Given the description of an element on the screen output the (x, y) to click on. 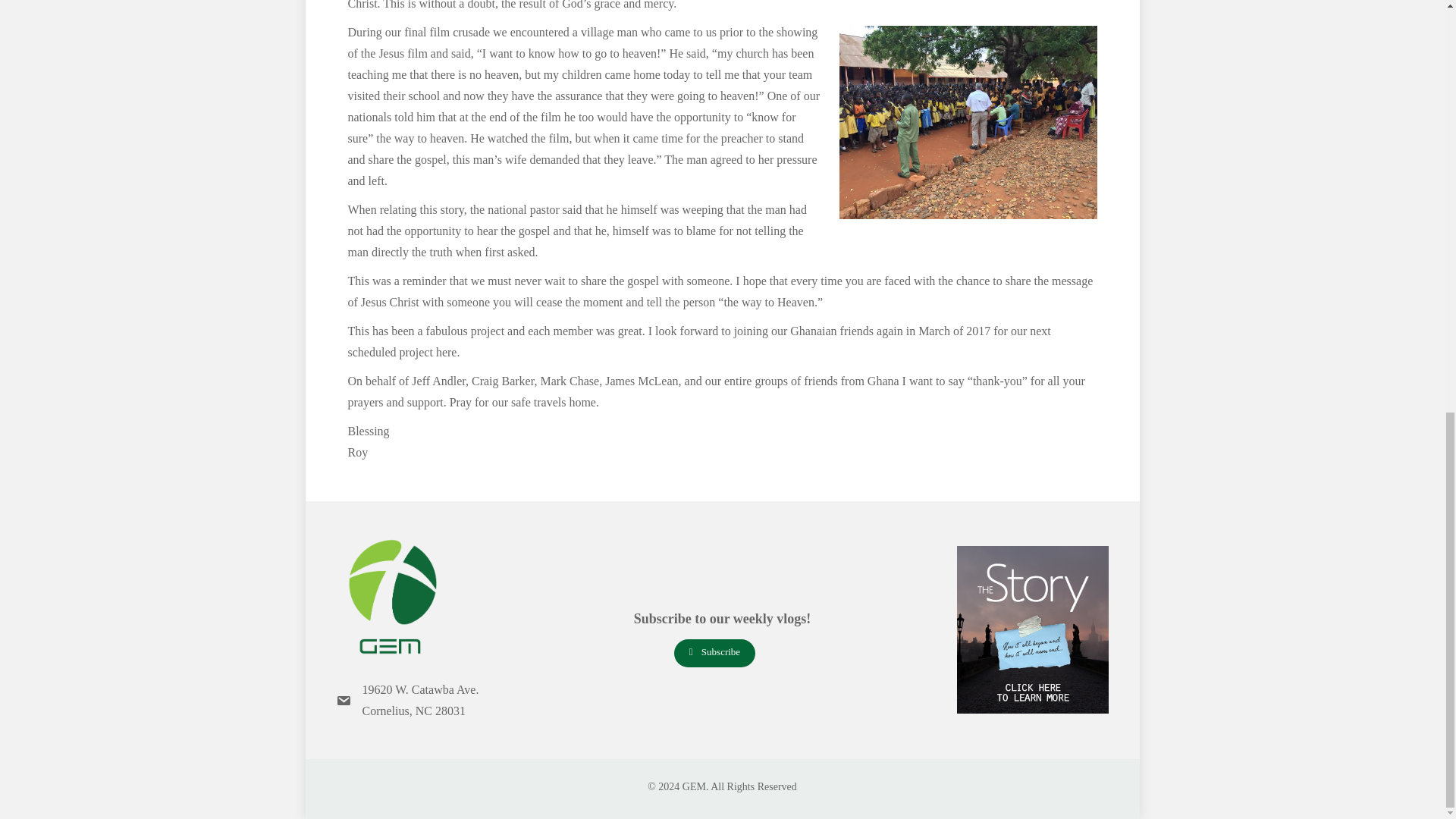
the-story (1032, 629)
Subscribe (714, 653)
